Given the description of an element on the screen output the (x, y) to click on. 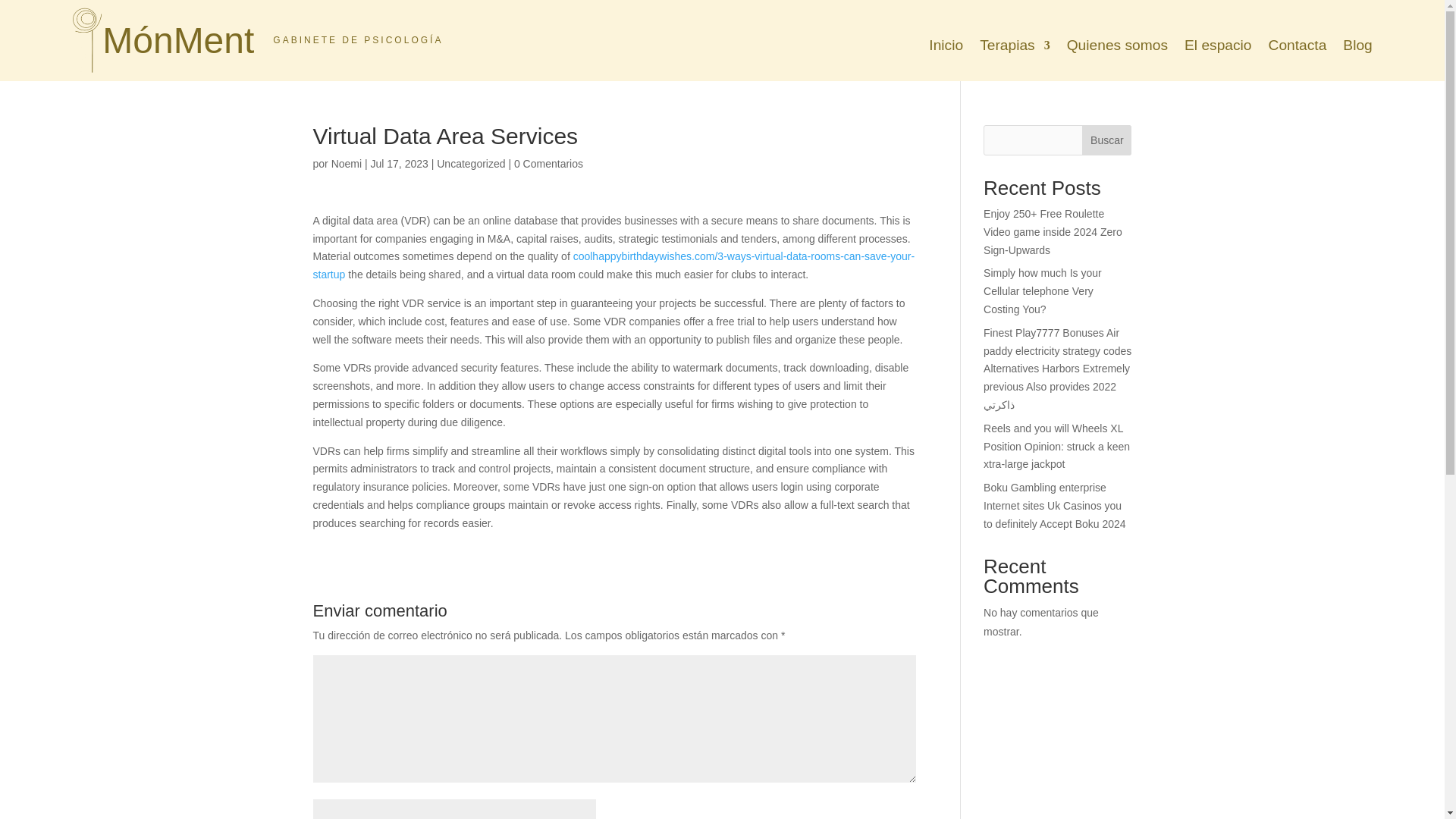
Inicio (945, 47)
Contacta (1297, 47)
Terapias (1014, 47)
El espacio (1218, 47)
Mensajes de Noemi (346, 163)
Quienes somos (1117, 47)
Blog (1356, 47)
